Given the description of an element on the screen output the (x, y) to click on. 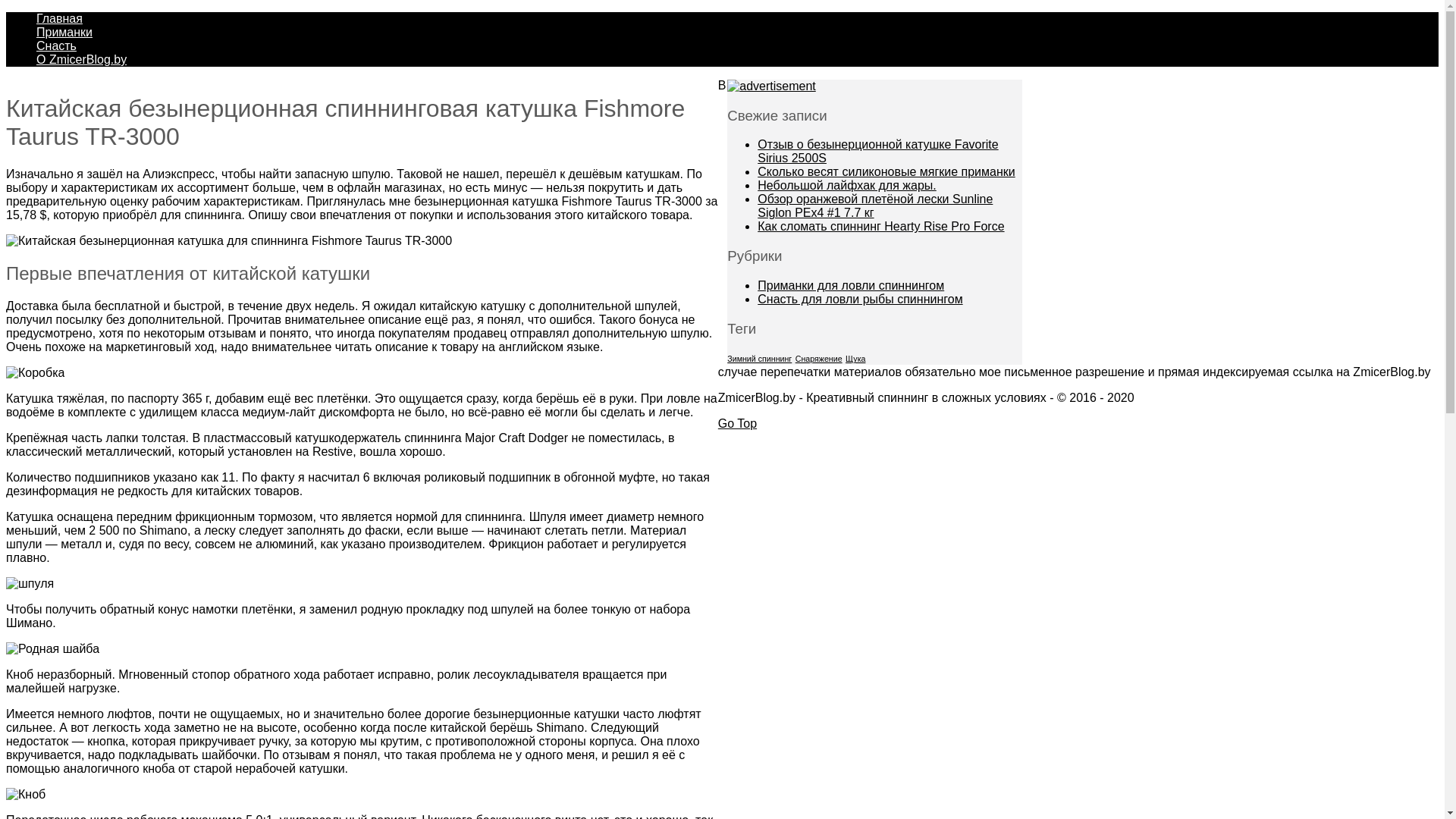
Go Top Element type: text (737, 423)
